Given the description of an element on the screen output the (x, y) to click on. 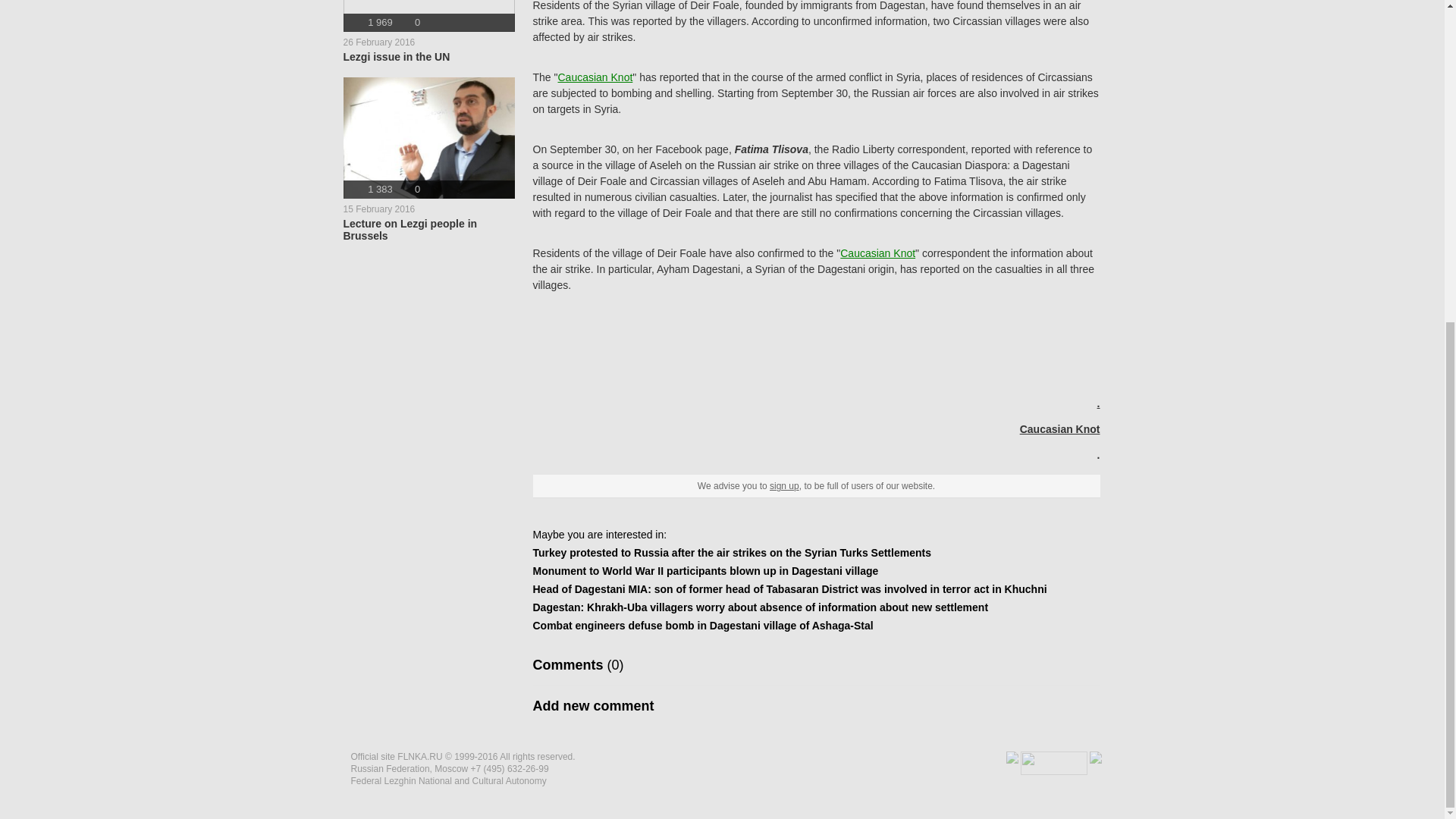
Add new comment (592, 705)
Caucasian Knot (1060, 428)
Caucasian Knot (594, 77)
Caucasian Knot (877, 253)
sign up (427, 31)
